Given the description of an element on the screen output the (x, y) to click on. 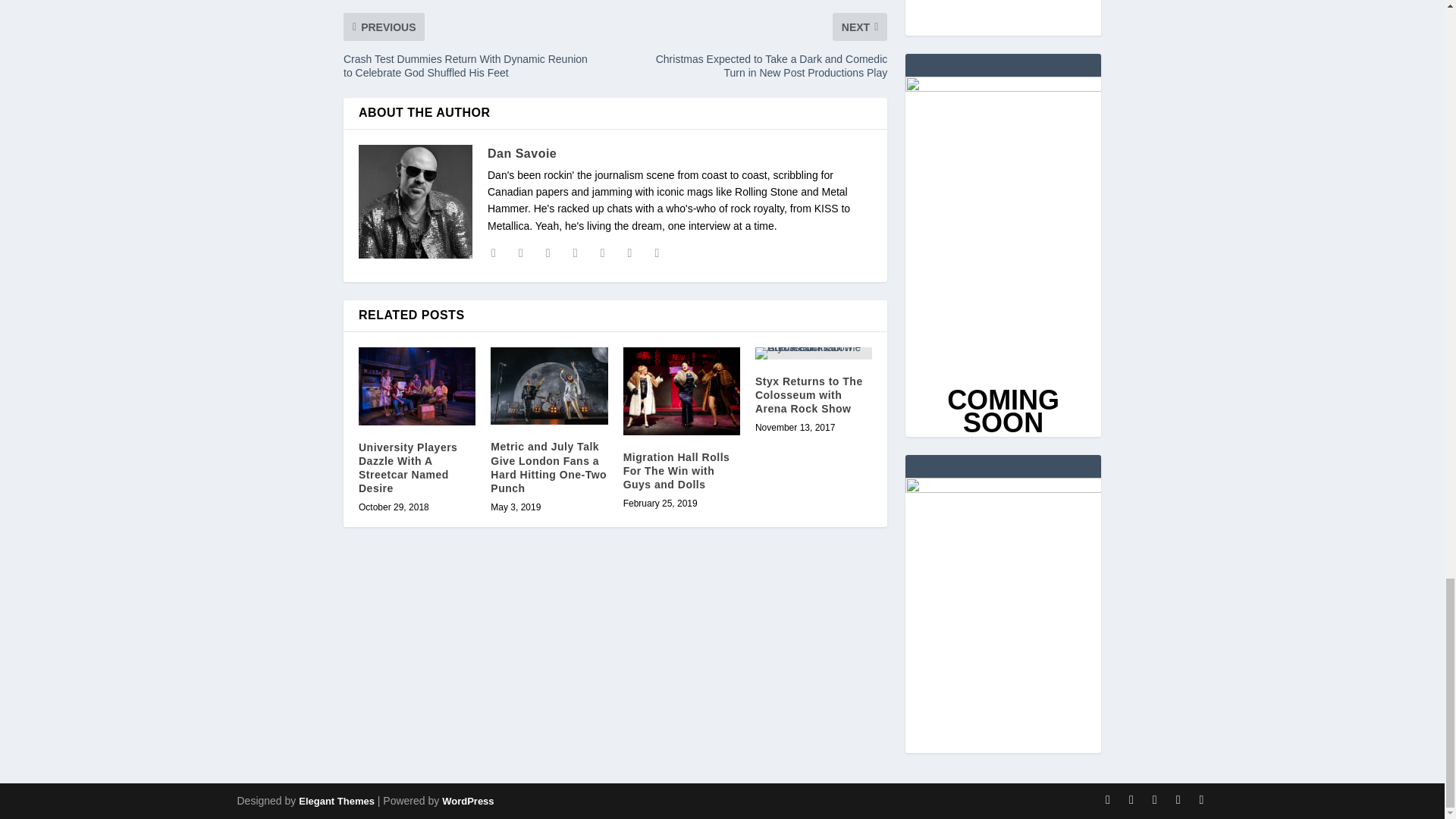
View all posts by Dan Savoie (521, 153)
University Players Dazzle With A Streetcar Named Desire (417, 386)
